Given the description of an element on the screen output the (x, y) to click on. 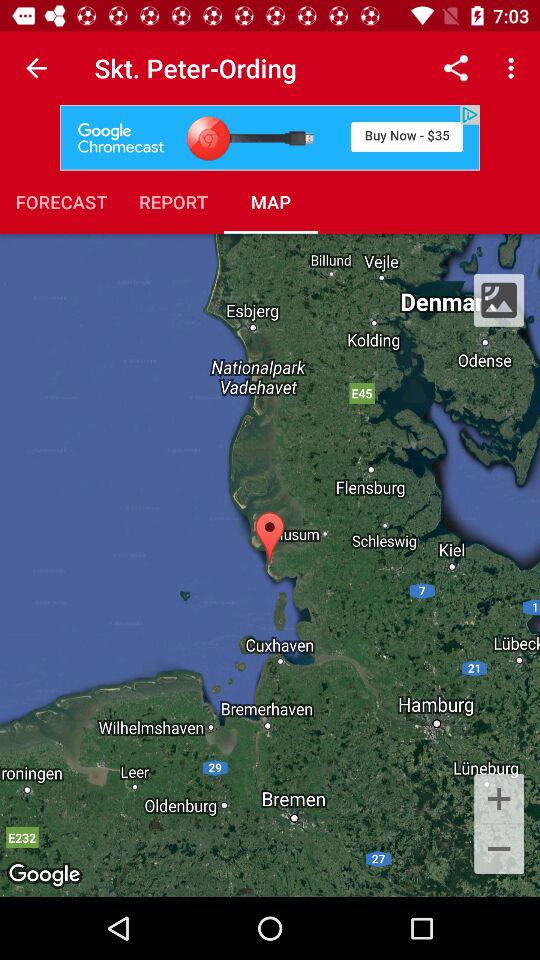
press item next to skt. peter-ording (36, 68)
